Given the description of an element on the screen output the (x, y) to click on. 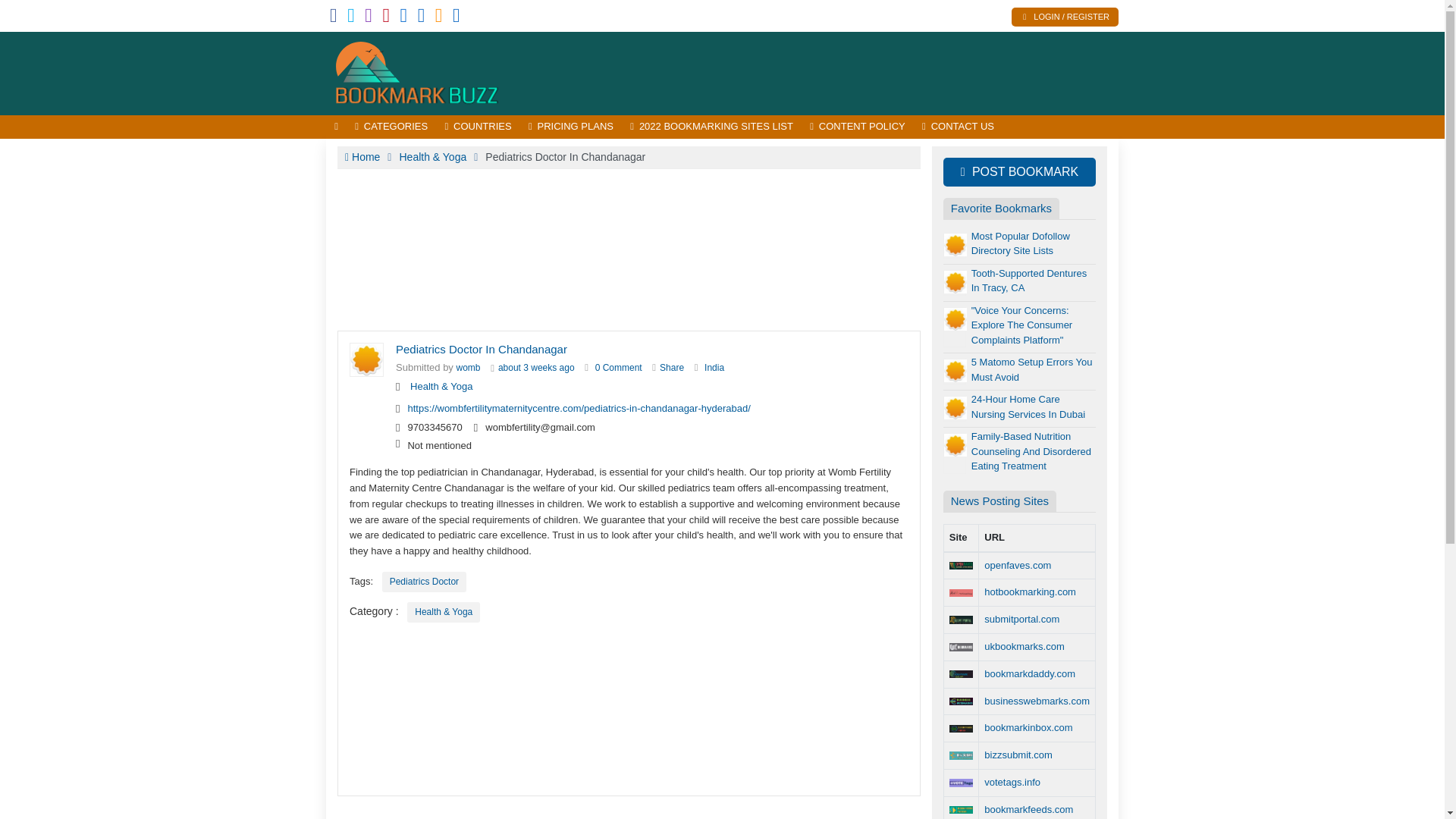
CONTENT POLICY (858, 126)
Facebook (333, 18)
Home (362, 156)
Advertisement (842, 73)
RSS Feed (438, 18)
Tooth-Supported Dentures In Tracy, CA (1028, 280)
about 3 weeks ago (536, 367)
Share (671, 367)
2022 BOOKMARKING SITES LIST (711, 126)
Tumblr (403, 18)
COUNTRIES (477, 126)
Medium (421, 18)
0 Comment (618, 367)
womb (468, 367)
